Given the description of an element on the screen output the (x, y) to click on. 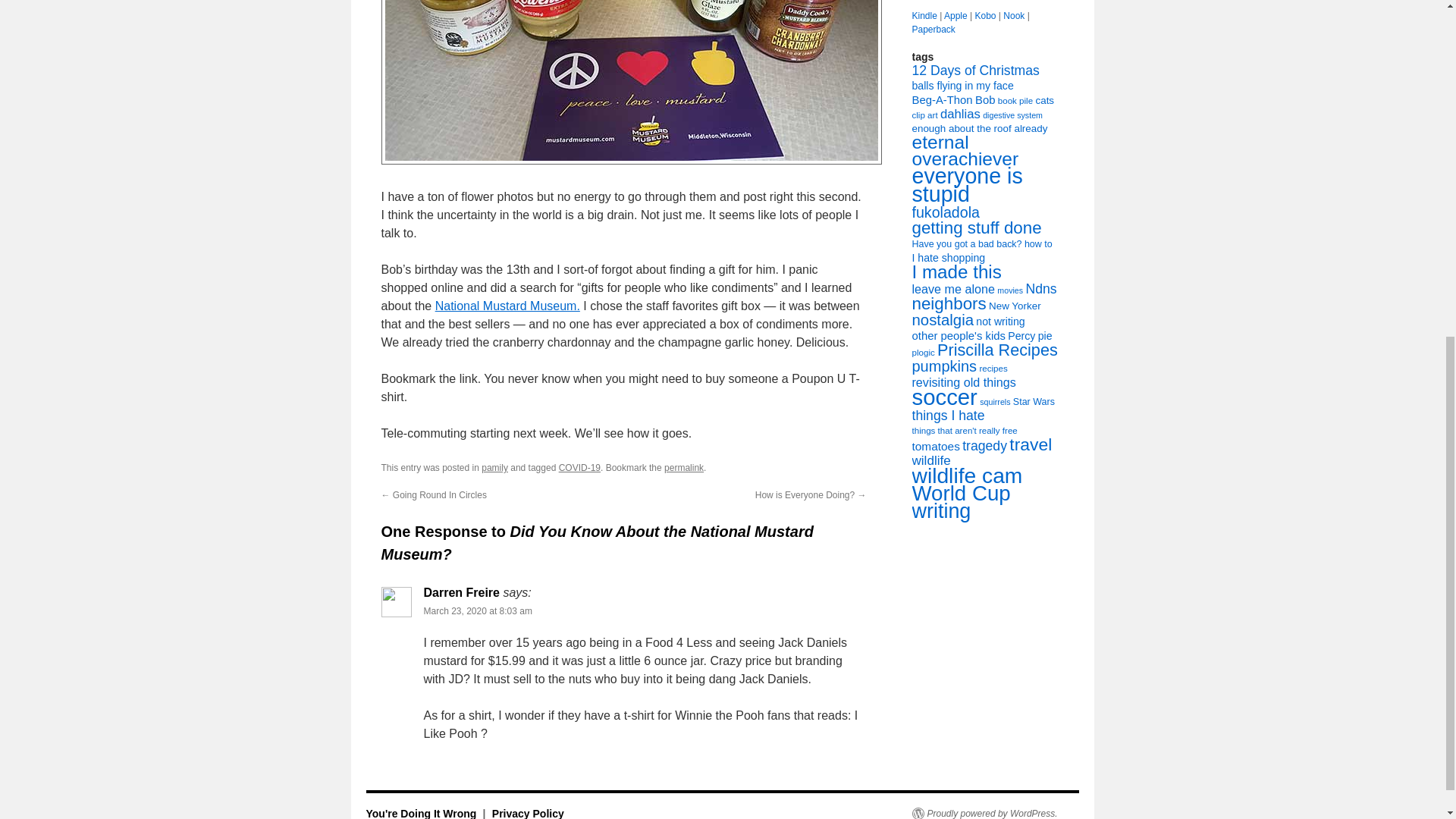
Kindle (923, 15)
COVID-19 (579, 467)
dahlias (959, 114)
Nook (1014, 15)
balls flying in my face (962, 85)
eternal overachiever (964, 149)
digestive system (1012, 114)
Apple (955, 15)
pamily (494, 467)
